Given the description of an element on the screen output the (x, y) to click on. 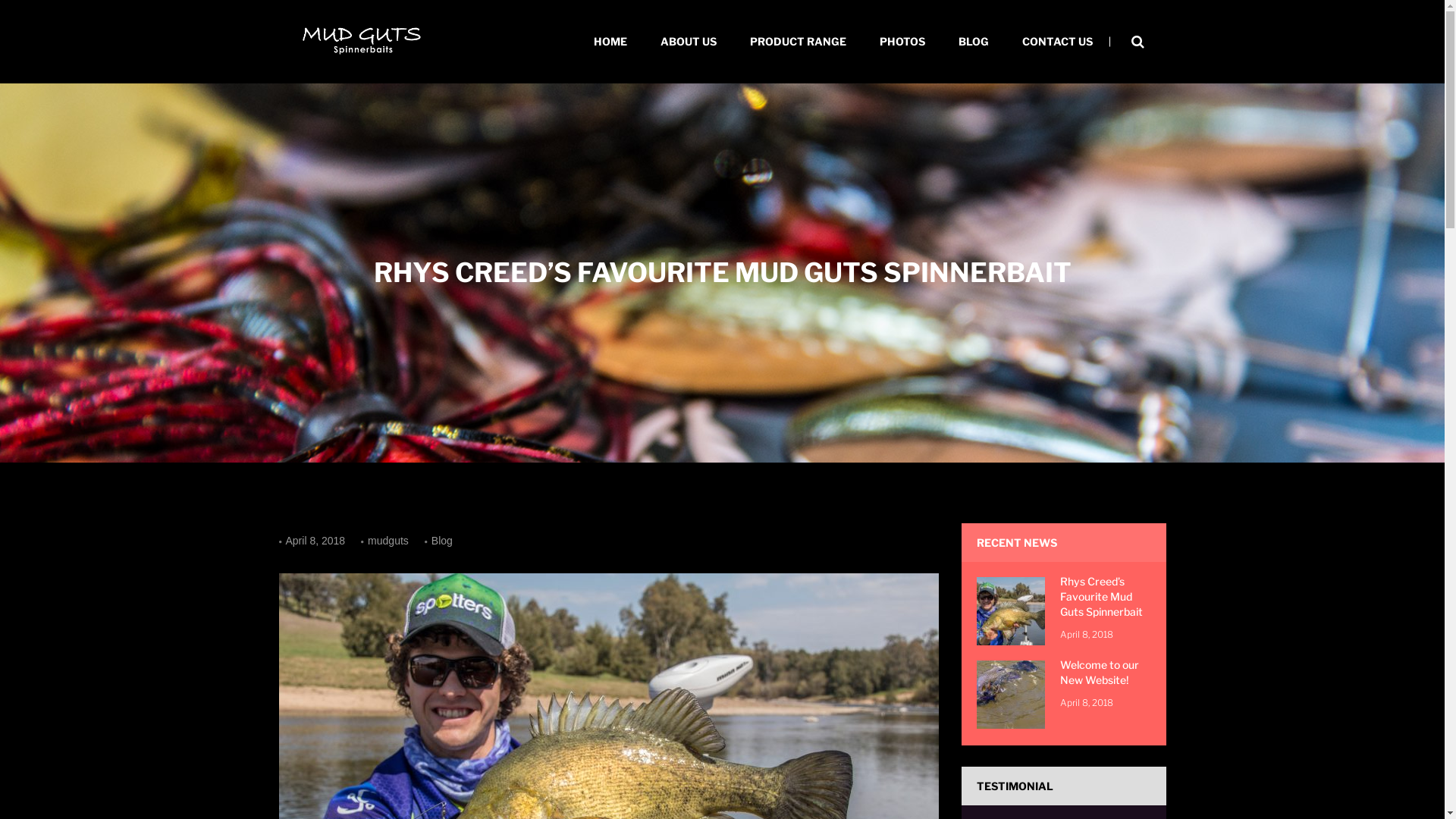
Welcome to our New Website! Element type: text (1099, 672)
ABOUT US Element type: text (687, 41)
mudguts Element type: text (387, 540)
Blog Element type: text (443, 540)
April 8, 2018 Element type: text (315, 540)
PRODUCT RANGE Element type: text (797, 41)
CONTACT US Element type: text (1057, 41)
Mud Guts Spinnerbaits Element type: hover (362, 41)
PHOTOS Element type: text (901, 41)
April 8, 2018 Element type: text (1086, 702)
Welcome to our New Website! Element type: hover (1010, 693)
HOME Element type: text (609, 41)
BLOG Element type: text (973, 41)
April 8, 2018 Element type: text (1086, 634)
